Given the description of an element on the screen output the (x, y) to click on. 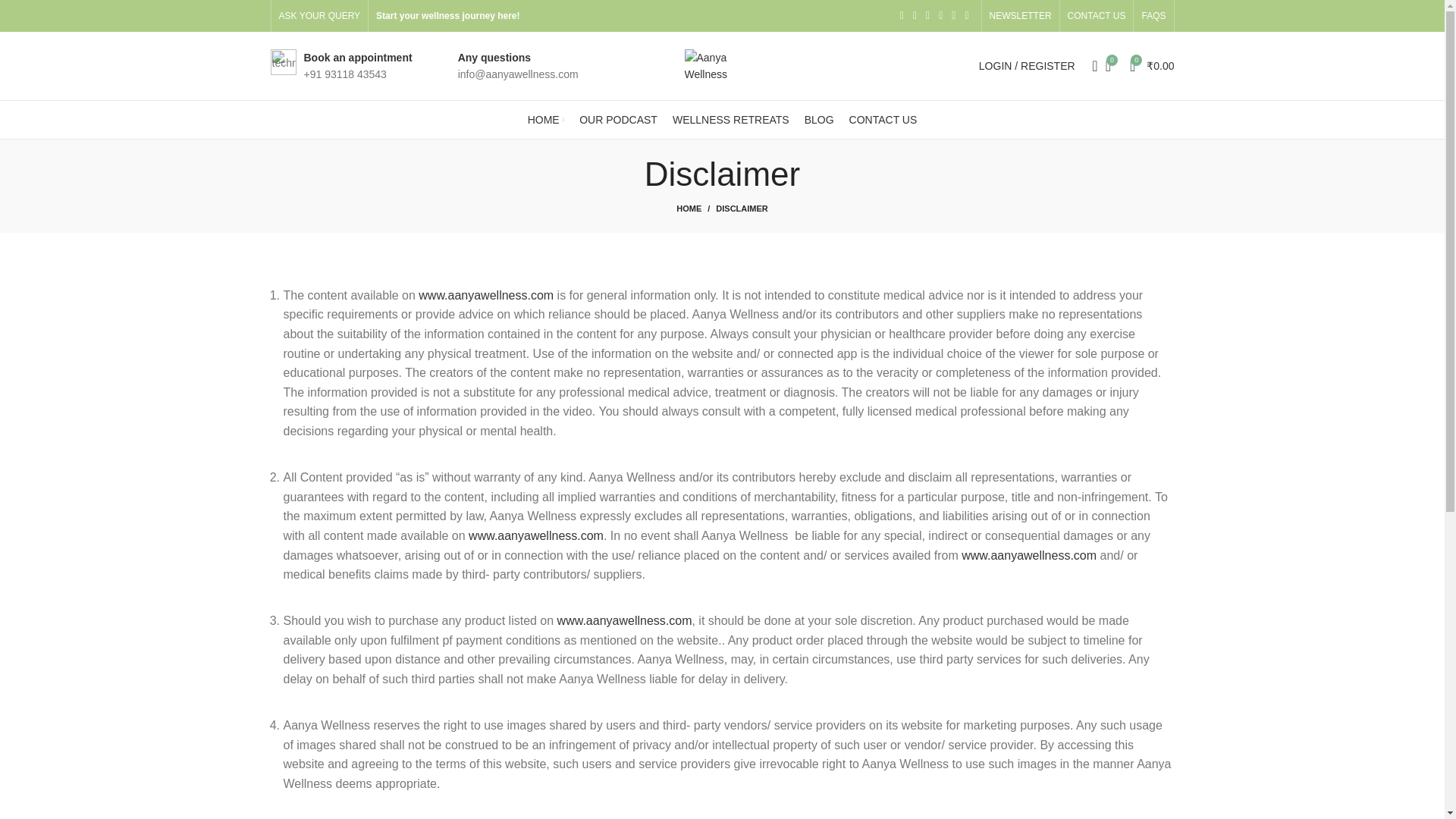
NEWSLETTER (1020, 15)
HOME (545, 119)
Shopping cart (1152, 65)
OUR PODCAST (618, 119)
CONTACT US (1096, 15)
www.aanyawellness.com (625, 620)
HOME (696, 208)
www.aanyawellness.com (1028, 554)
www.aanyawellness.com (486, 295)
ASK YOUR QUERY (320, 15)
www.aanyawellness.com (536, 535)
BLOG (819, 119)
My account (1027, 65)
technology (282, 62)
CONTACT US (882, 119)
